Given the description of an element on the screen output the (x, y) to click on. 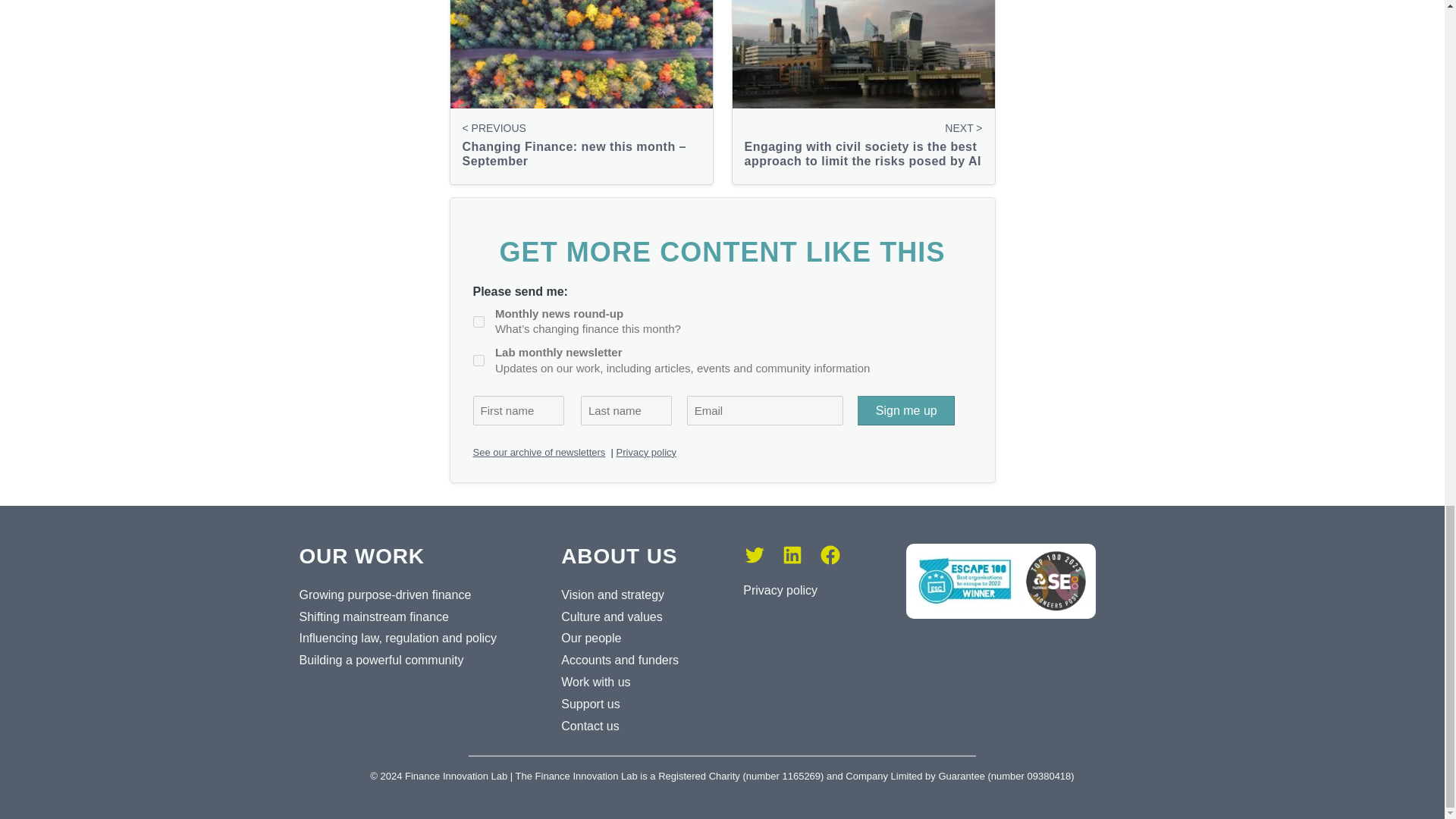
Sign me up (906, 410)
ceo-roundup (478, 321)
lab-news (478, 360)
